Given the description of an element on the screen output the (x, y) to click on. 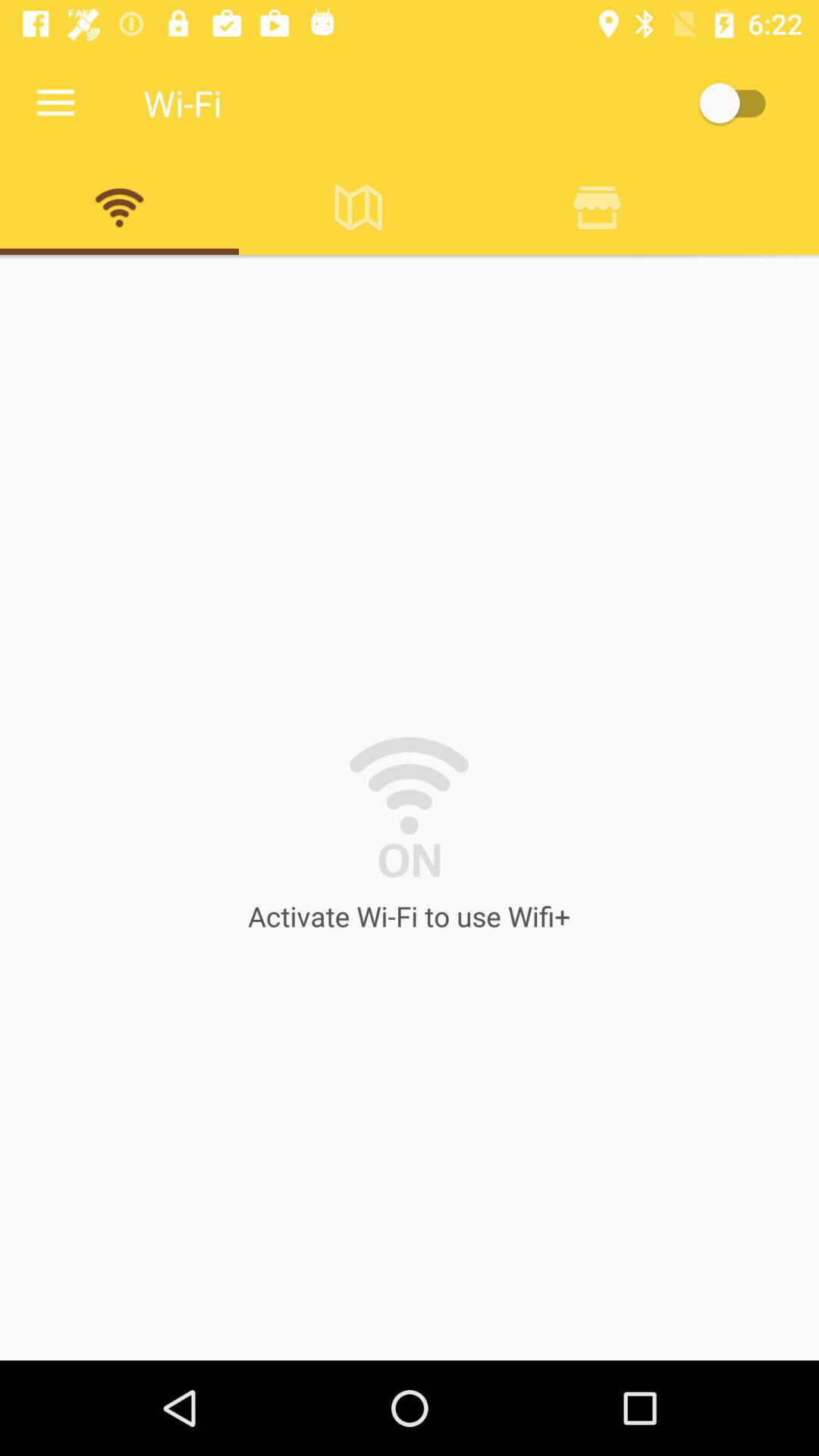
wifi signal on (119, 206)
